Given the description of an element on the screen output the (x, y) to click on. 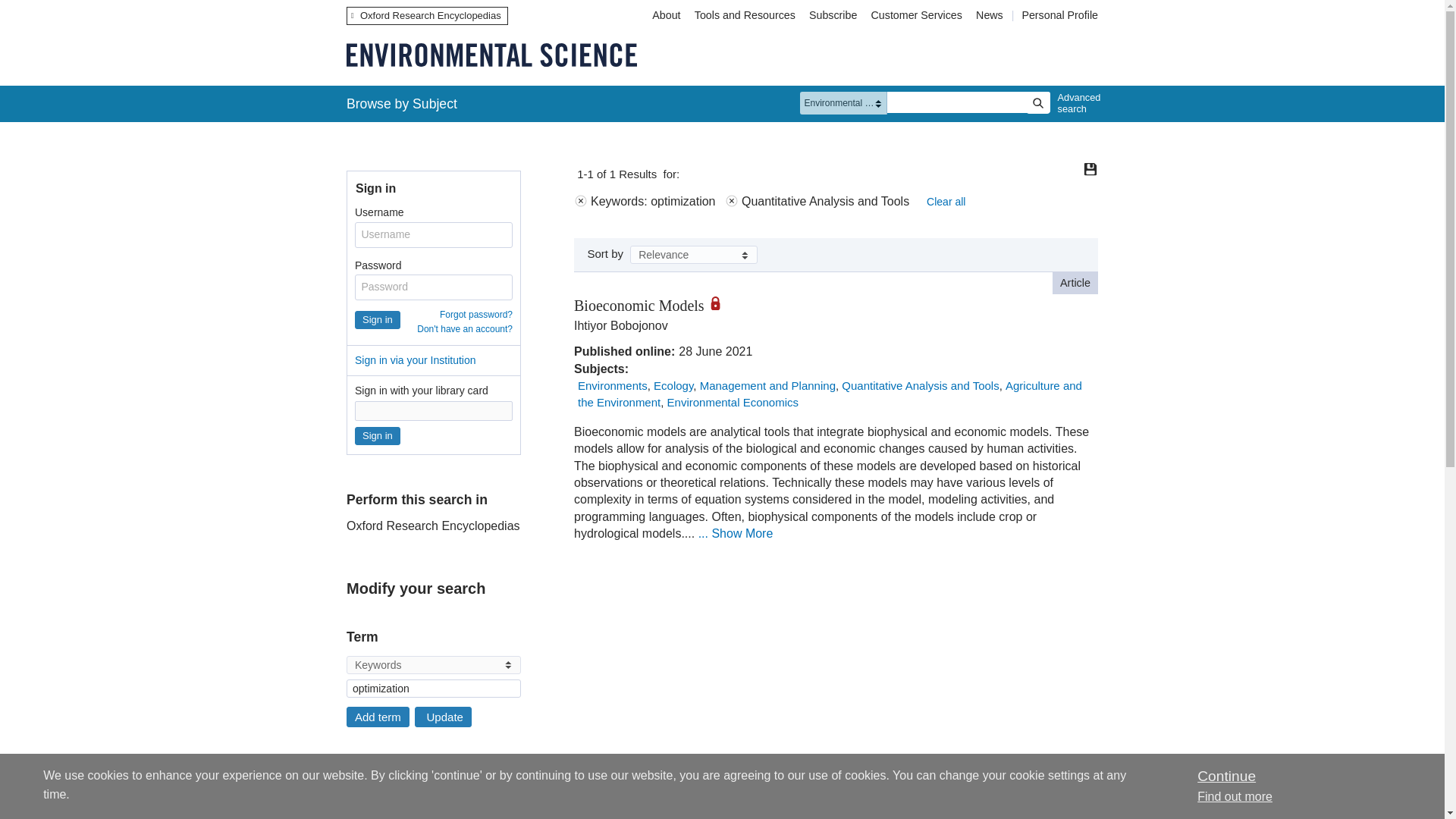
restricted access (720, 303)
 Update (442, 716)
Oxford Research Encyclopedia of Environmental Science (491, 54)
Search (1037, 102)
Search (1037, 102)
Tools and Resources (744, 15)
Advanced search (1075, 103)
Search (1037, 102)
Subject Reference (351, 809)
Sign in (377, 434)
Find out more (1234, 796)
Sign in (377, 320)
optimization (433, 688)
Subscribe (832, 15)
Oxford Research Encyclopedias (427, 15)
